Given the description of an element on the screen output the (x, y) to click on. 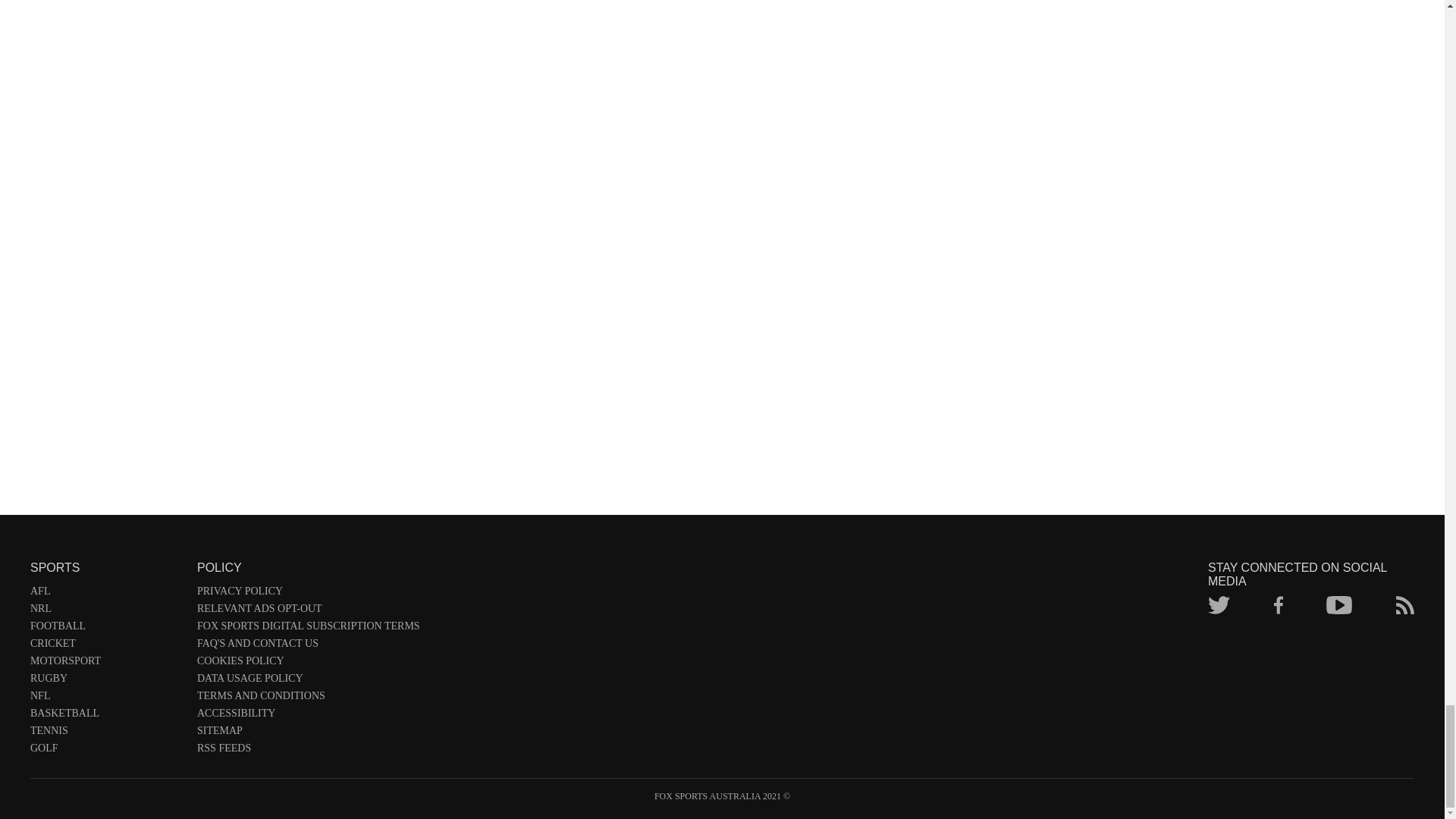
MOTORSPORT (106, 663)
AFL (106, 593)
RUGBY (106, 681)
NFL (106, 698)
NRL (106, 610)
BASKETBALL (106, 715)
CRICKET (106, 646)
FOOTBALL (106, 628)
